Given the description of an element on the screen output the (x, y) to click on. 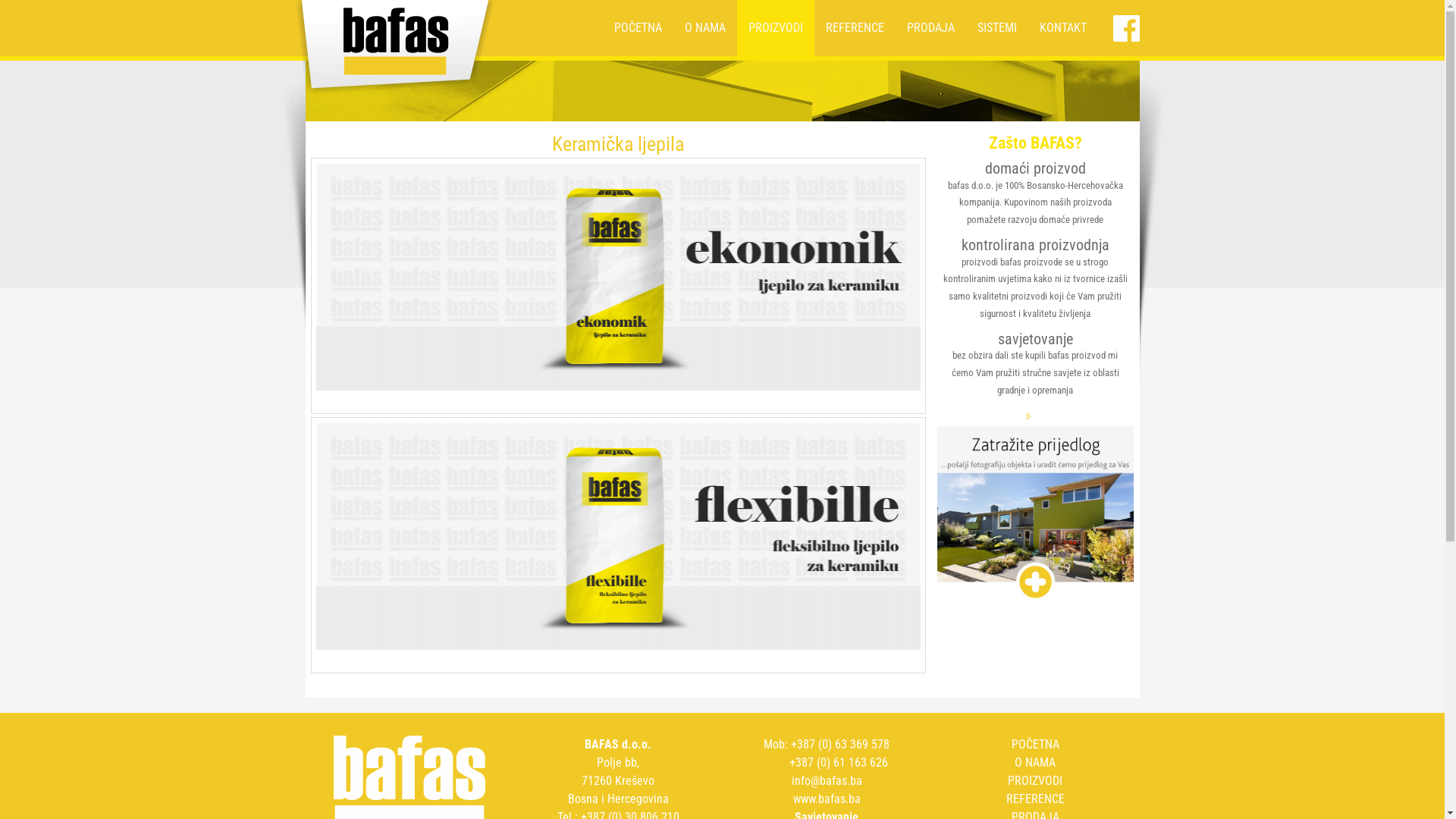
BAFAS FLEXIBILLE Element type: hover (617, 645)
PRODAJA Element type: text (929, 28)
O NAMA Element type: text (1034, 762)
KONTAKT Element type: text (1063, 28)
REFERENCE Element type: text (1034, 798)
www.bafas.ba Element type: text (826, 798)
PROIZVODI Element type: text (775, 28)
O NAMA Element type: text (705, 28)
info@bafas.ba Element type: text (826, 780)
SISTEMI Element type: text (997, 28)
BAFAS EKONOMIK Element type: hover (617, 386)
REFERENCE Element type: text (854, 28)
PROIZVODI Element type: text (1034, 780)
